Given the description of an element on the screen output the (x, y) to click on. 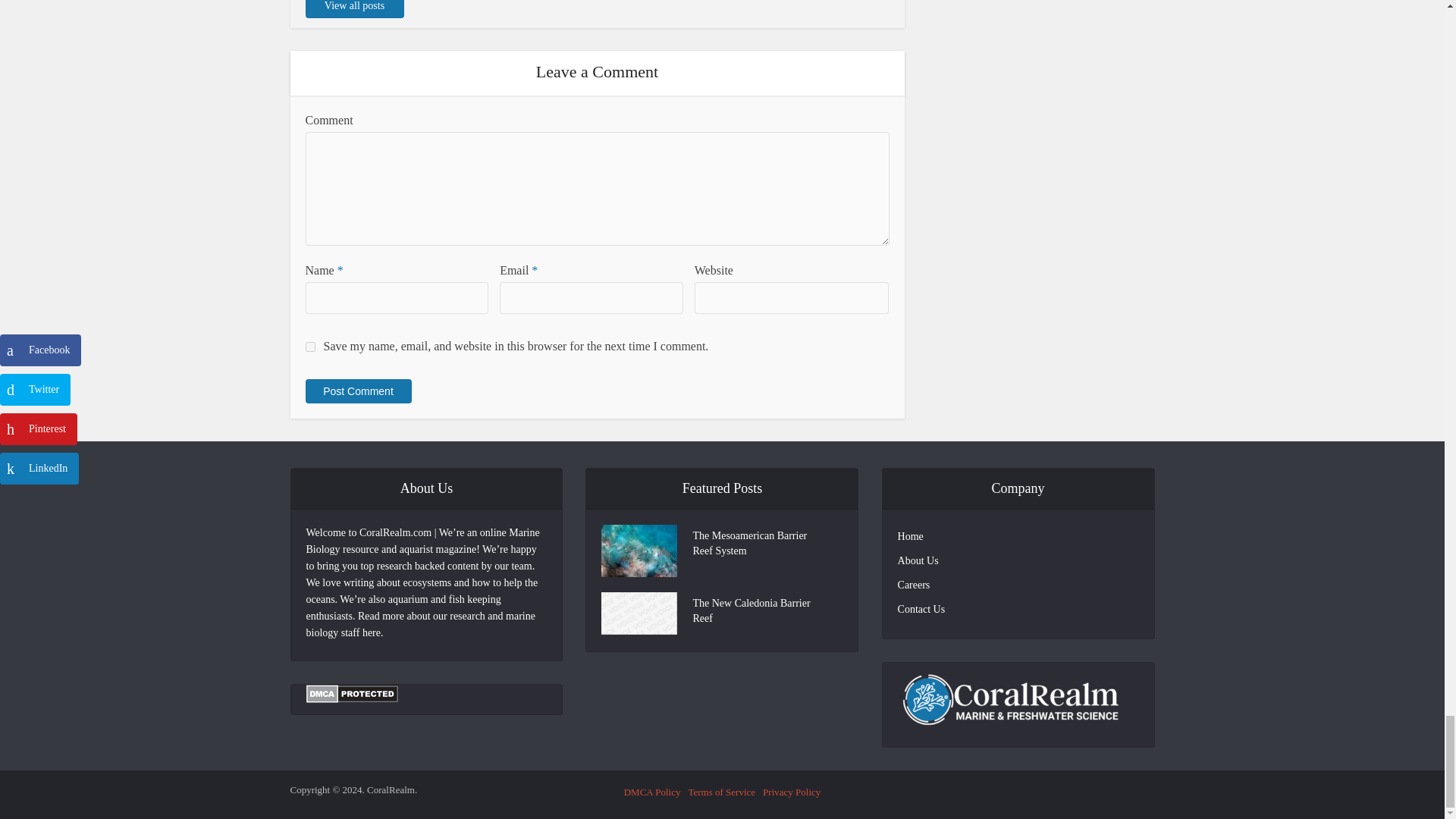
Post Comment (357, 391)
yes (309, 347)
